Given the description of an element on the screen output the (x, y) to click on. 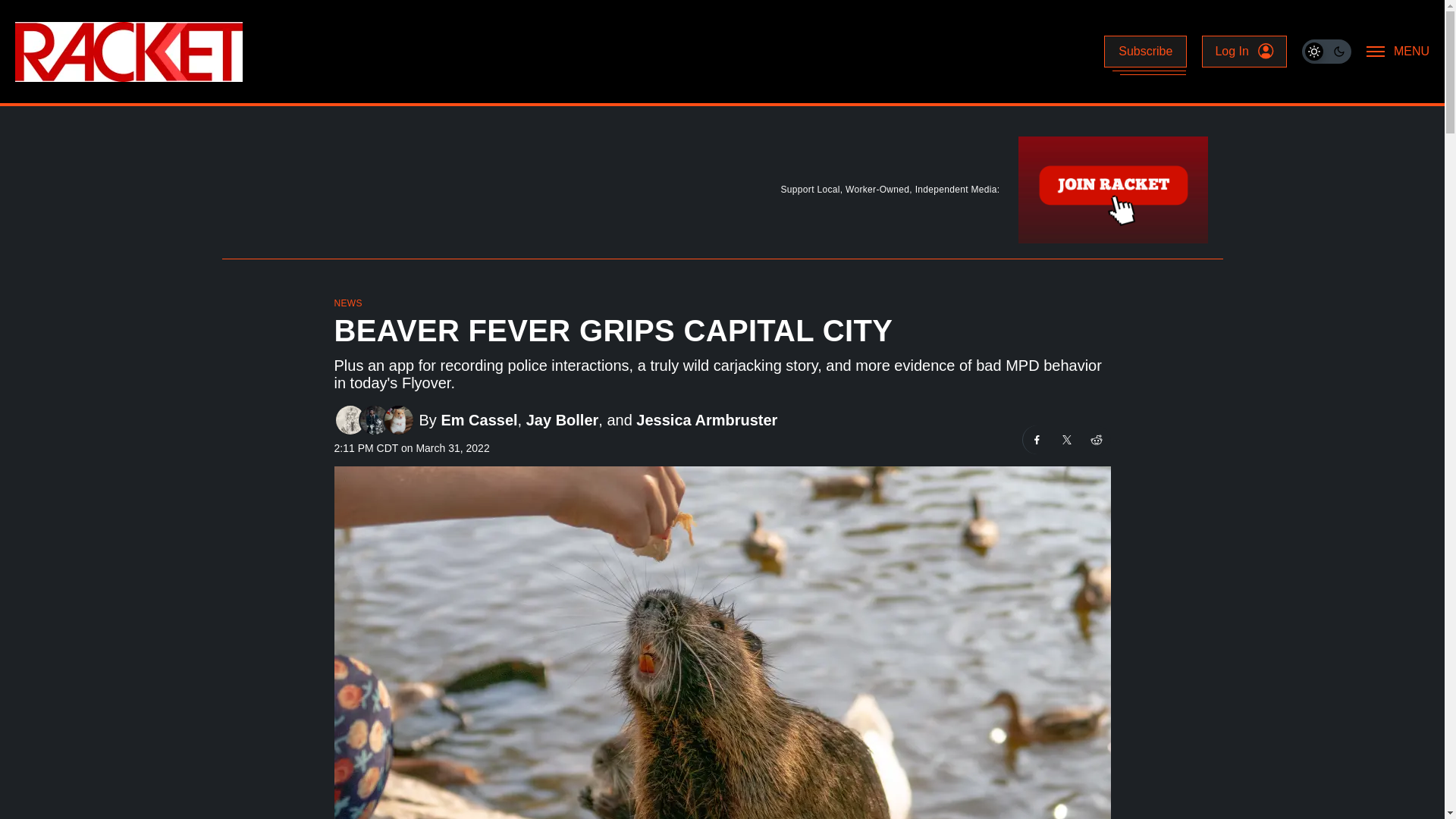
Support Local, Worker-Owned, Independent Media: (721, 192)
Em Cassel (478, 419)
Jay Boller (561, 419)
MENU (1398, 51)
Share on Facebook (1036, 439)
Subscribe (1144, 51)
NEWS (347, 303)
Log In (1243, 51)
Jessica Armbruster (706, 419)
